Given the description of an element on the screen output the (x, y) to click on. 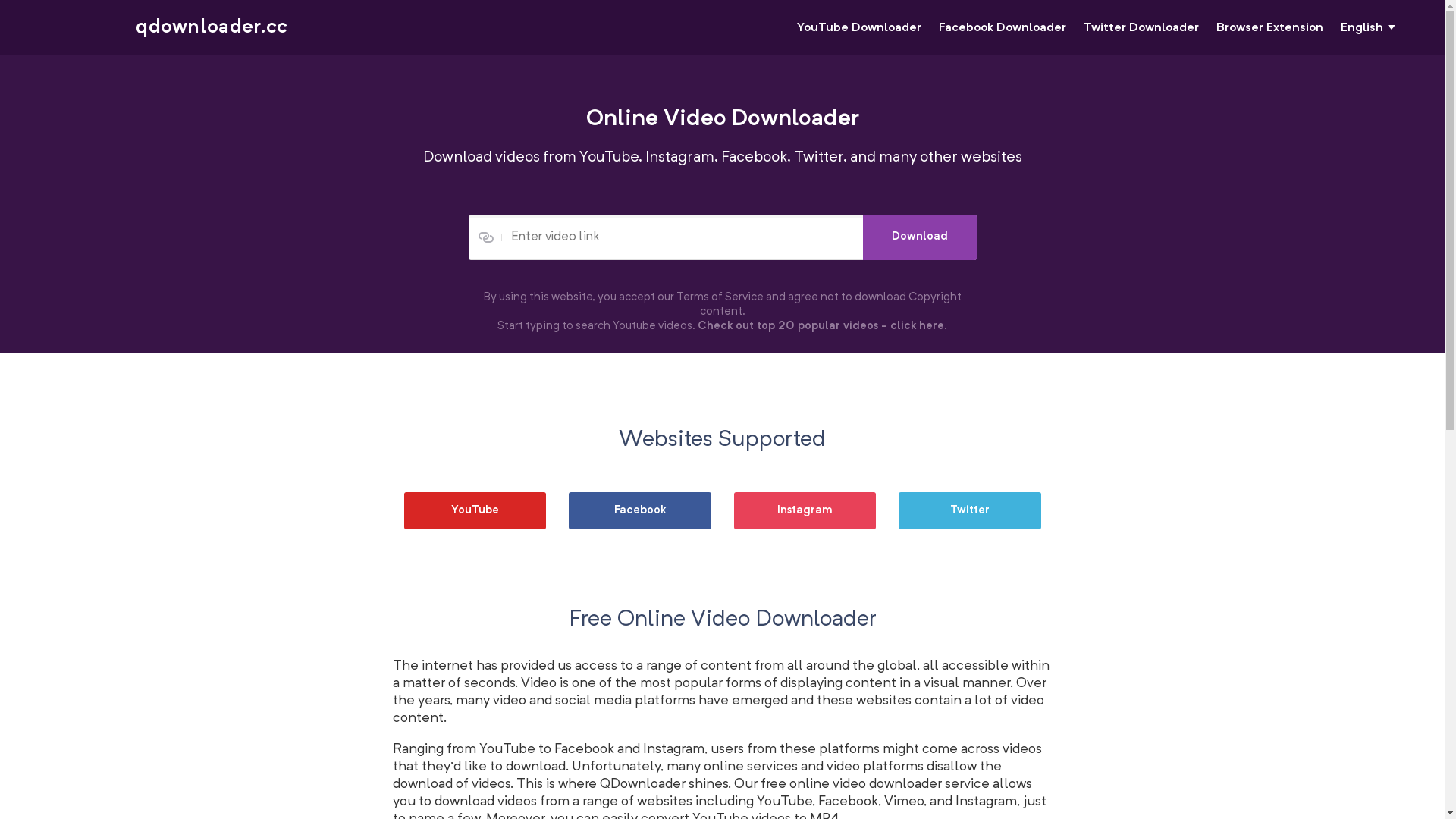
Twitter Downloader Element type: text (1140, 27)
qdownloader.cc Element type: text (211, 27)
Facebook Downloader Element type: text (1002, 27)
English Element type: text (1367, 28)
YouTube Downloader Element type: text (859, 27)
Browser Extension Element type: text (1269, 27)
Download Element type: text (919, 237)
